Given the description of an element on the screen output the (x, y) to click on. 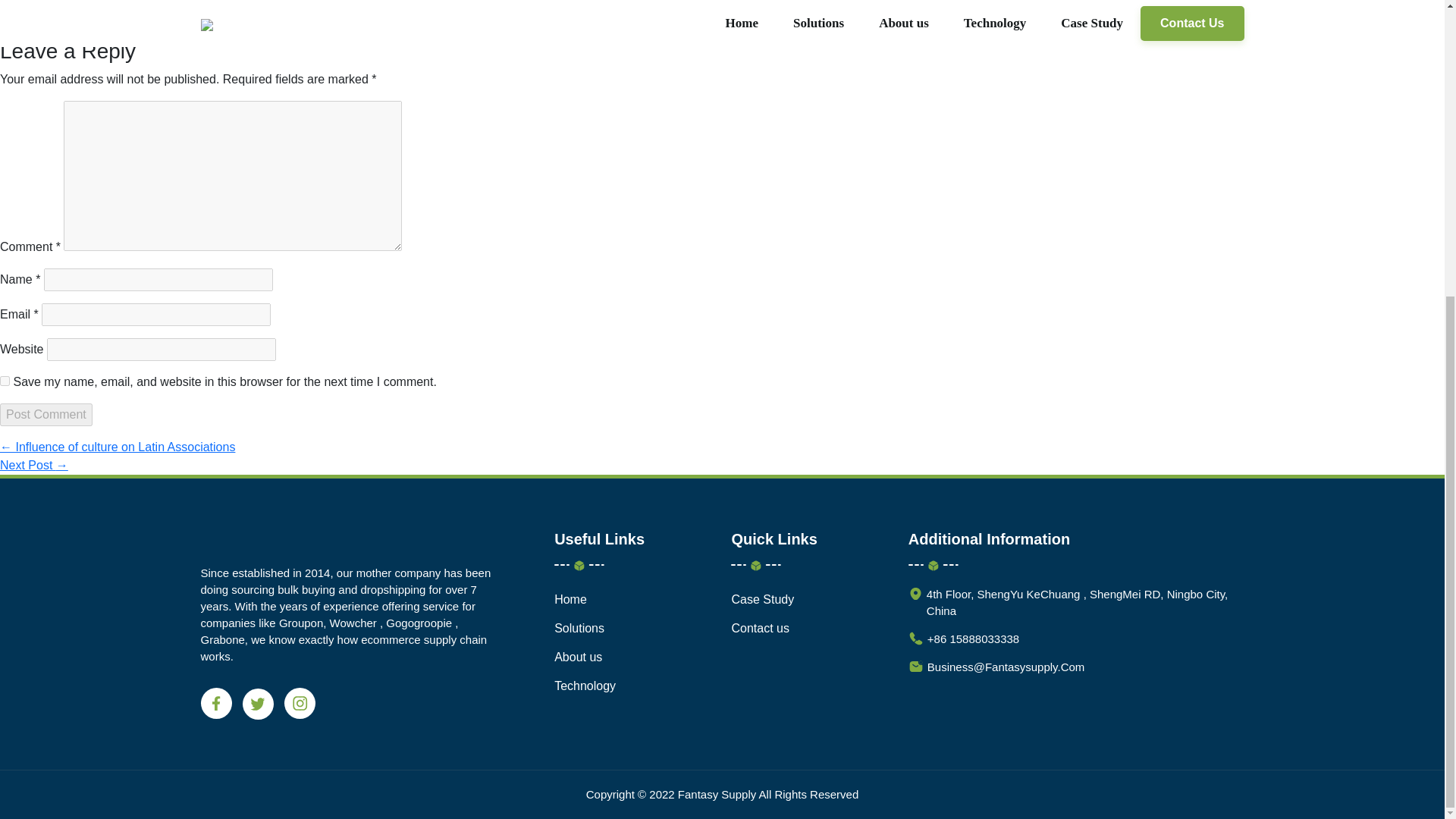
Comments (181, 29)
Home (570, 599)
About us (578, 656)
Contact us (759, 627)
Post Comment (46, 414)
Case Study (761, 599)
Post Comment (46, 414)
Technology (584, 685)
Solutions (579, 627)
yes (5, 380)
